Given the description of an element on the screen output the (x, y) to click on. 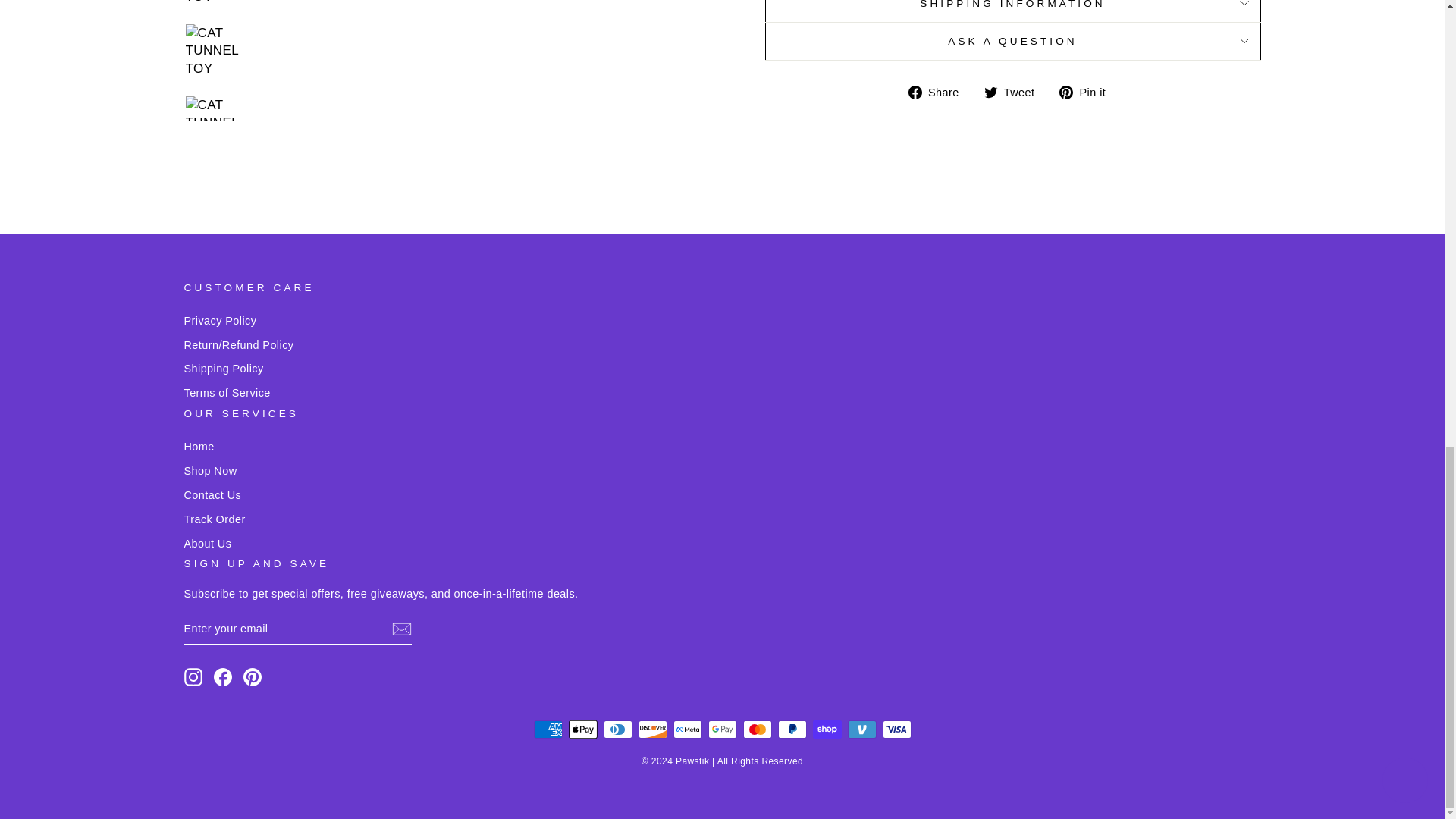
American Express (548, 729)
Pin on Pinterest (1087, 92)
Share on Facebook (939, 92)
Tweet on Twitter (1015, 92)
Pawstik on Facebook (222, 677)
Pawstik on Pinterest (251, 677)
Pawstik on Instagram (192, 677)
